Given the description of an element on the screen output the (x, y) to click on. 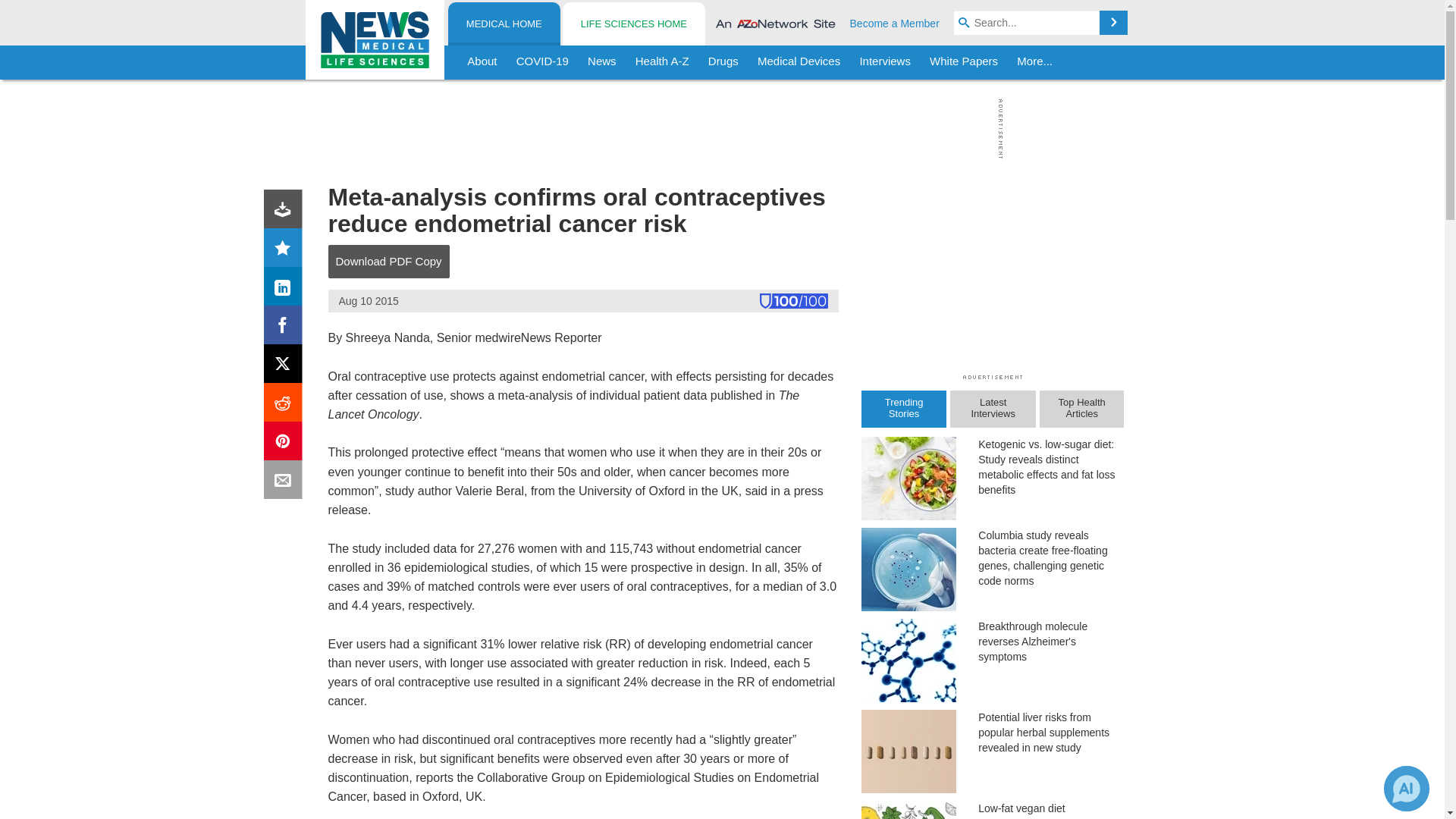
LIFE SCIENCES HOME (633, 23)
Facebook (285, 328)
Pinterest (285, 443)
COVID-19 (542, 62)
About (482, 62)
Rating (285, 250)
X (285, 366)
Search (1112, 22)
3rd party ad content (718, 128)
